Given the description of an element on the screen output the (x, y) to click on. 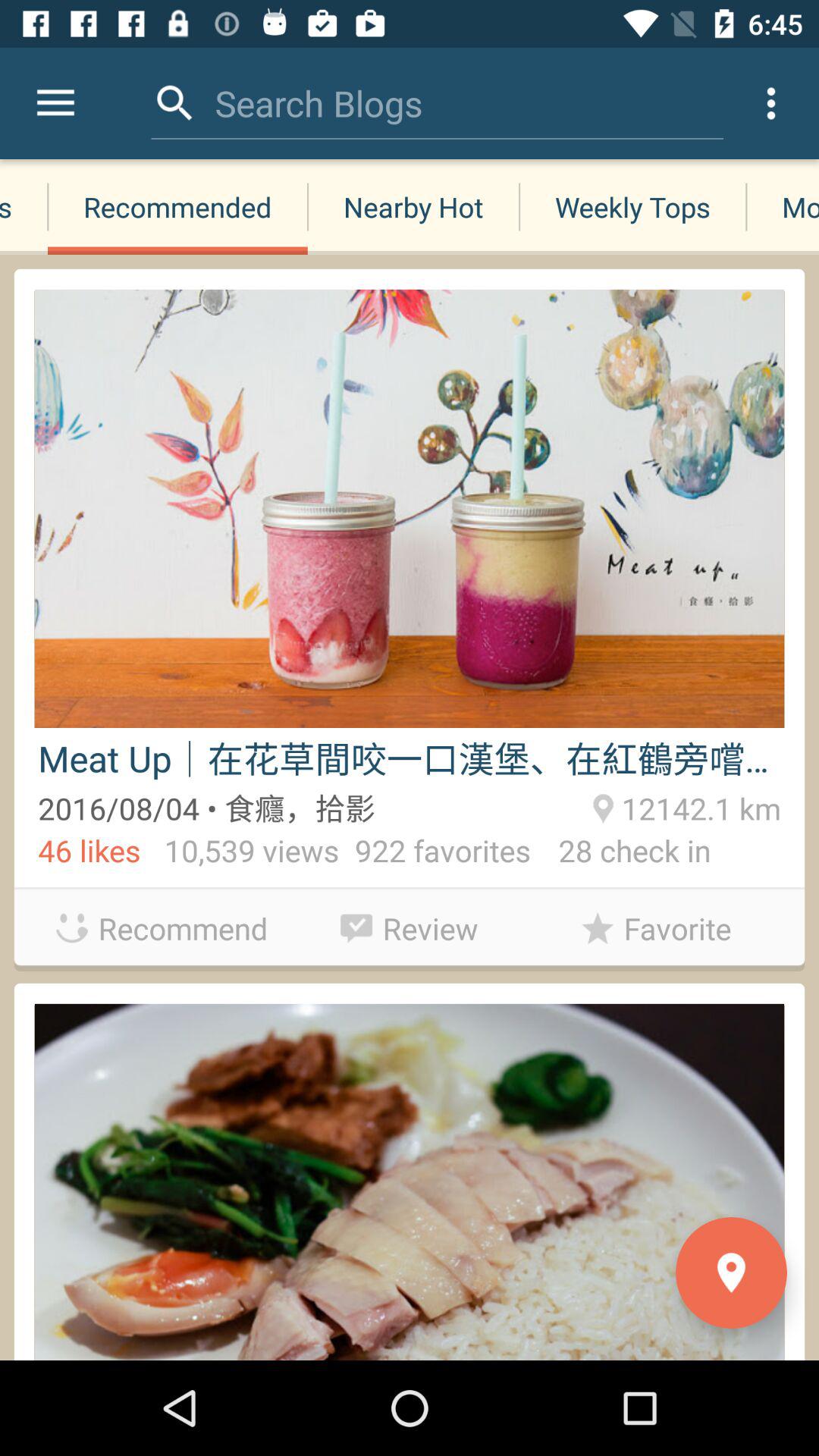
turn off the icon to the right of 922 favorites icon (620, 854)
